Given the description of an element on the screen output the (x, y) to click on. 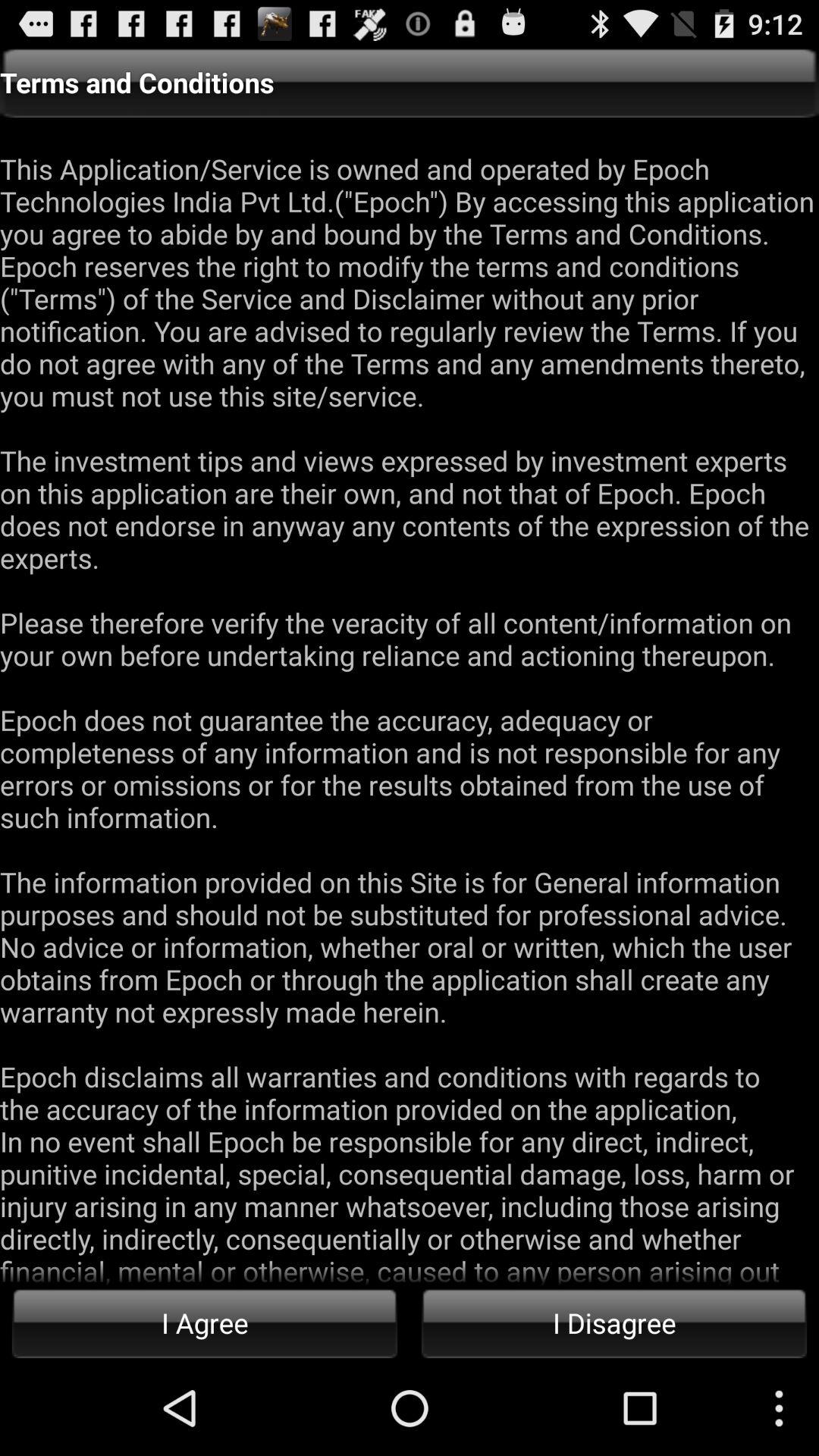
choose the  i disagree  at the bottom right corner (614, 1323)
